Given the description of an element on the screen output the (x, y) to click on. 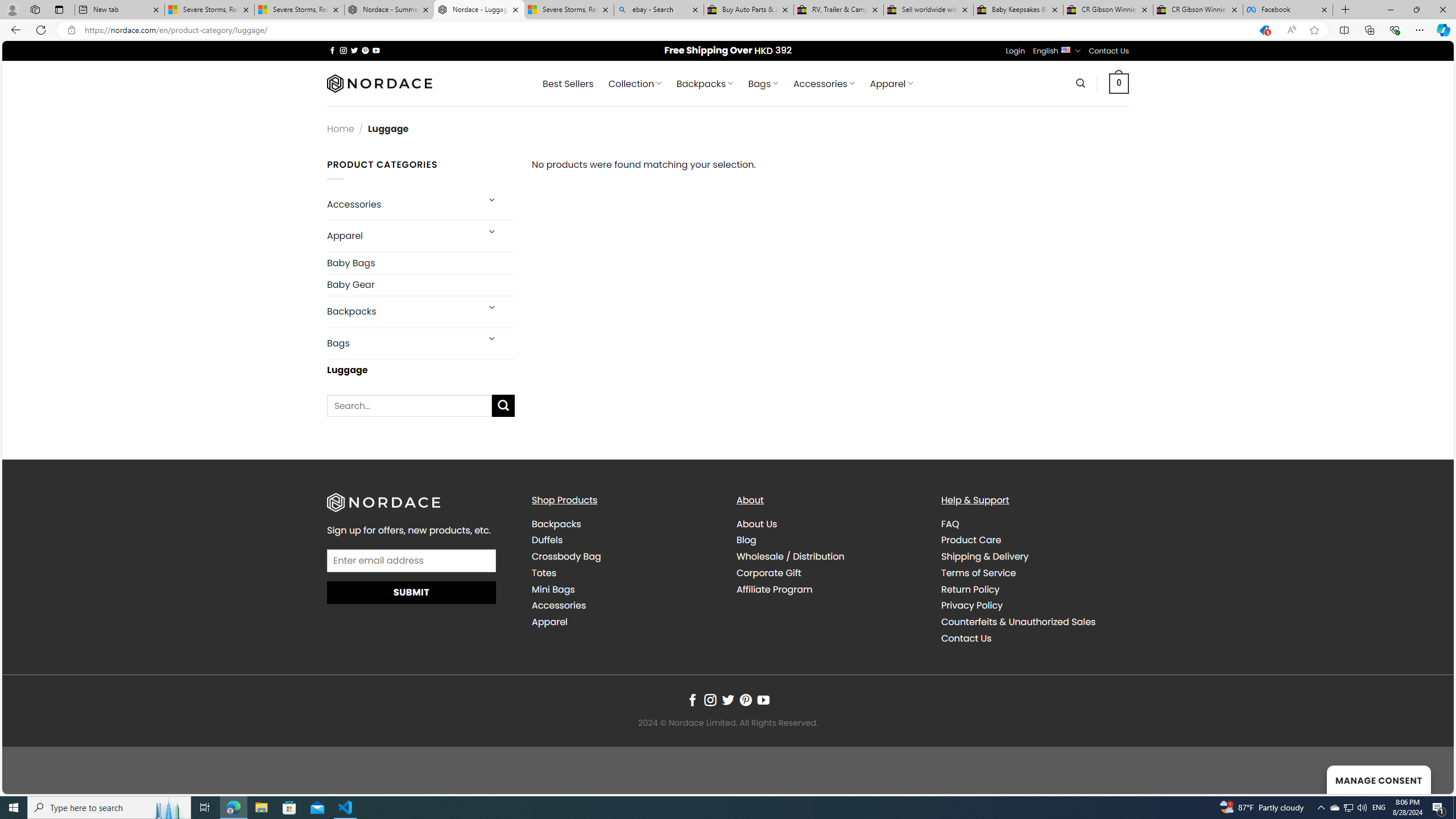
Contact Us (1034, 638)
Wholesale / Distribution (790, 556)
New Tab (1346, 9)
Submit (411, 592)
Follow on Pinterest (745, 700)
Blog (746, 540)
Blog (830, 540)
Baby Gear (421, 284)
Collections (1369, 29)
Backpacks (555, 523)
ebay - Search (658, 9)
